Given the description of an element on the screen output the (x, y) to click on. 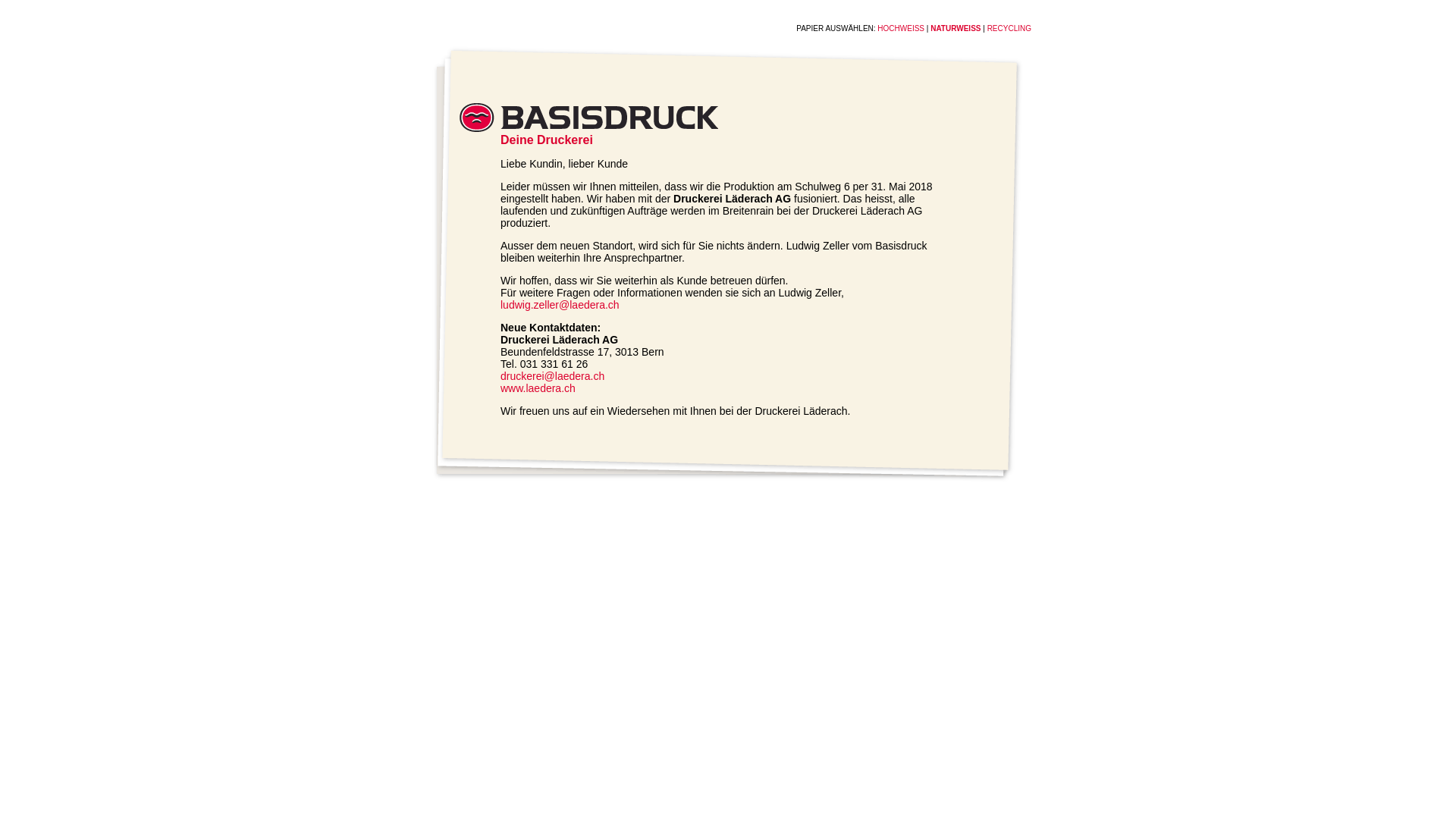
www.laedera.ch Element type: text (537, 388)
druckerei@laedera.ch Element type: text (552, 376)
RECYCLING Element type: text (1009, 28)
ludwig.zeller@laedera.ch Element type: text (559, 304)
HOCHWEISS Element type: text (900, 28)
NATURWEISS Element type: text (955, 28)
